Given the description of an element on the screen output the (x, y) to click on. 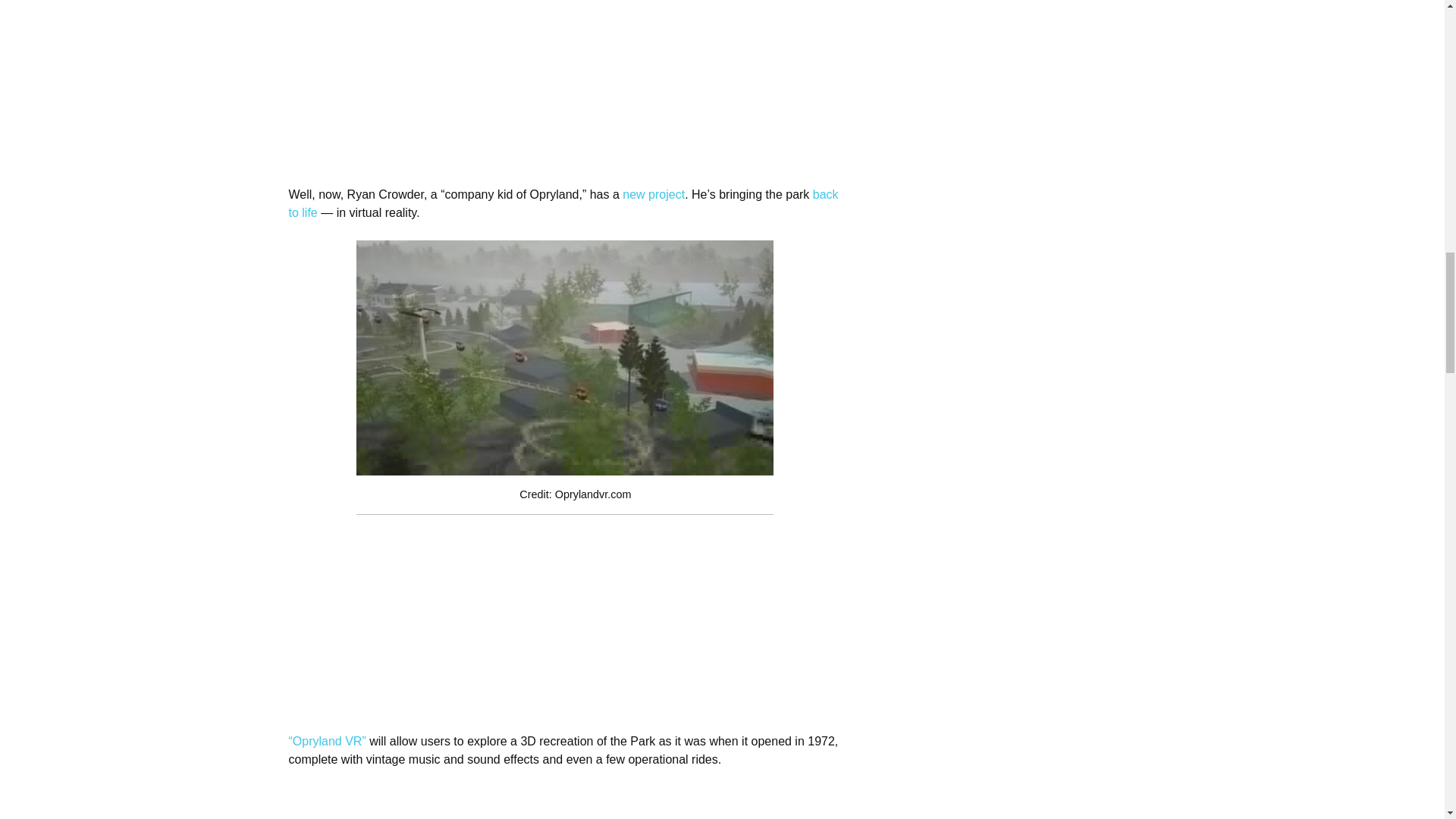
Opryland VR Teaser (553, 803)
